Given the description of an element on the screen output the (x, y) to click on. 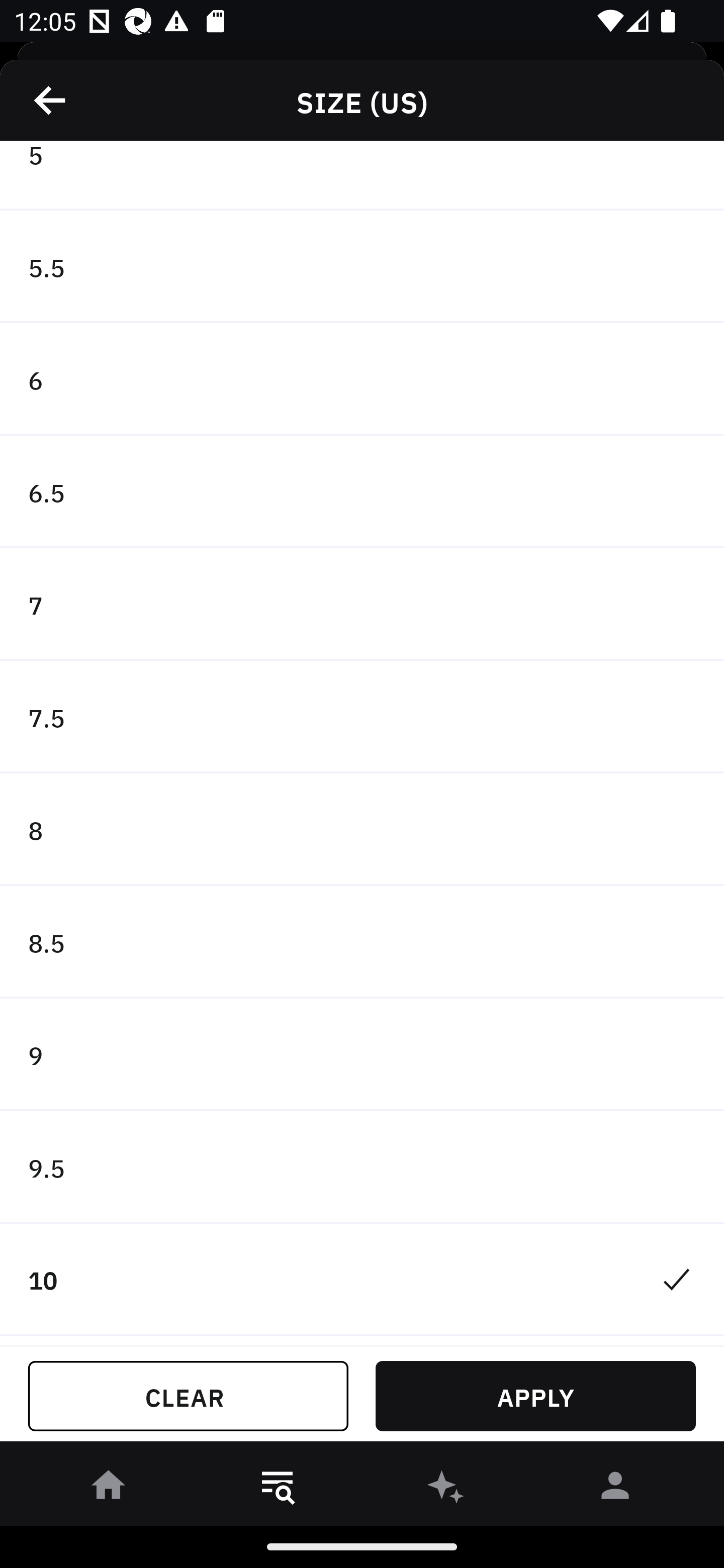
 (50, 100)
5 (362, 175)
5.5 (362, 266)
6 (362, 379)
6.5 (362, 491)
7 (362, 604)
7.5 (362, 716)
8 (362, 829)
8.5 (362, 941)
9 (362, 1054)
9.5 (362, 1167)
10  (362, 1279)
CLEAR  (188, 1396)
APPLY (535, 1396)
󰋜 (108, 1488)
󱎸 (277, 1488)
󰫢 (446, 1488)
󰀄 (615, 1488)
